Given the description of an element on the screen output the (x, y) to click on. 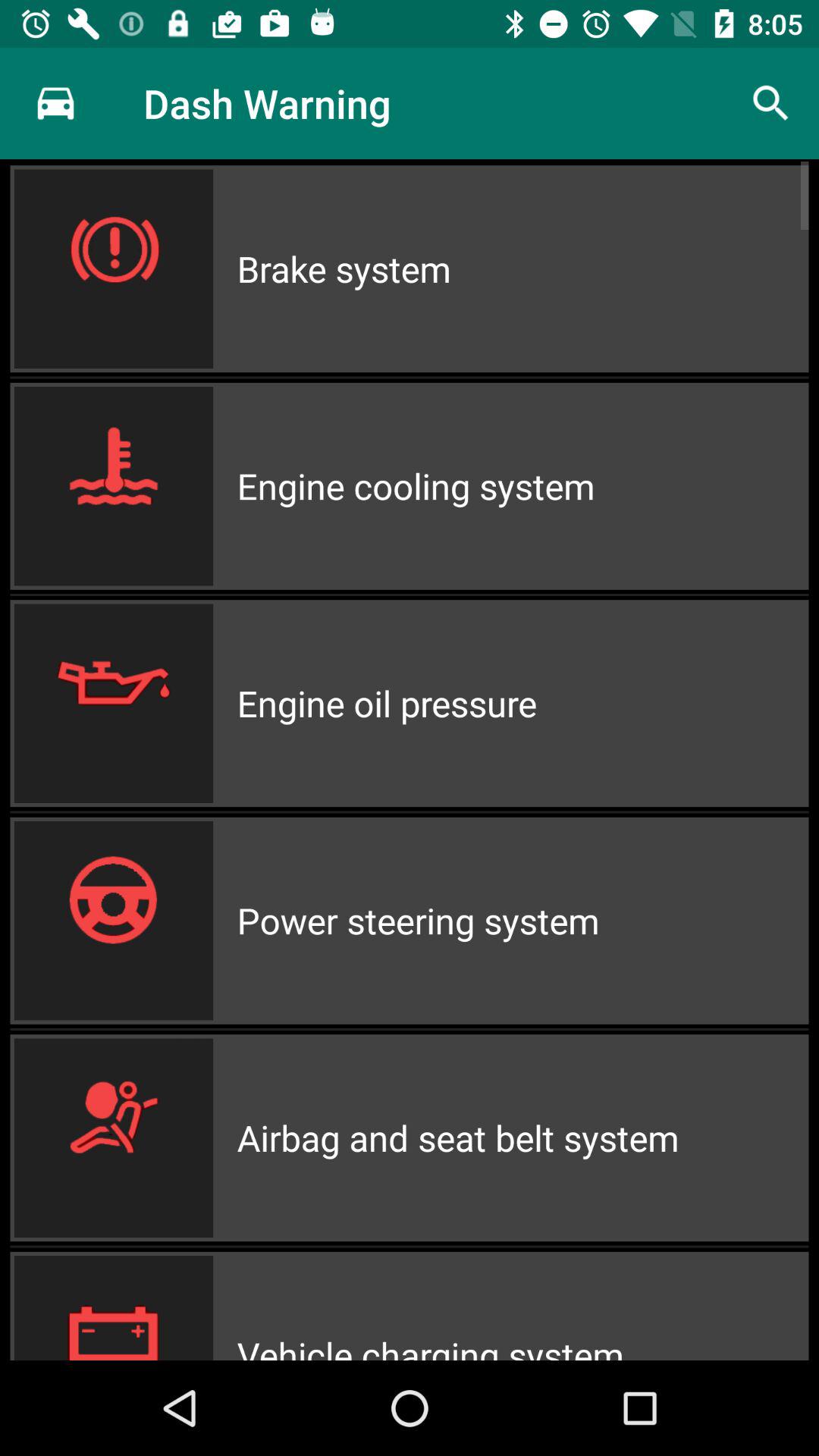
launch icon below the airbag and seat (522, 1305)
